Given the description of an element on the screen output the (x, y) to click on. 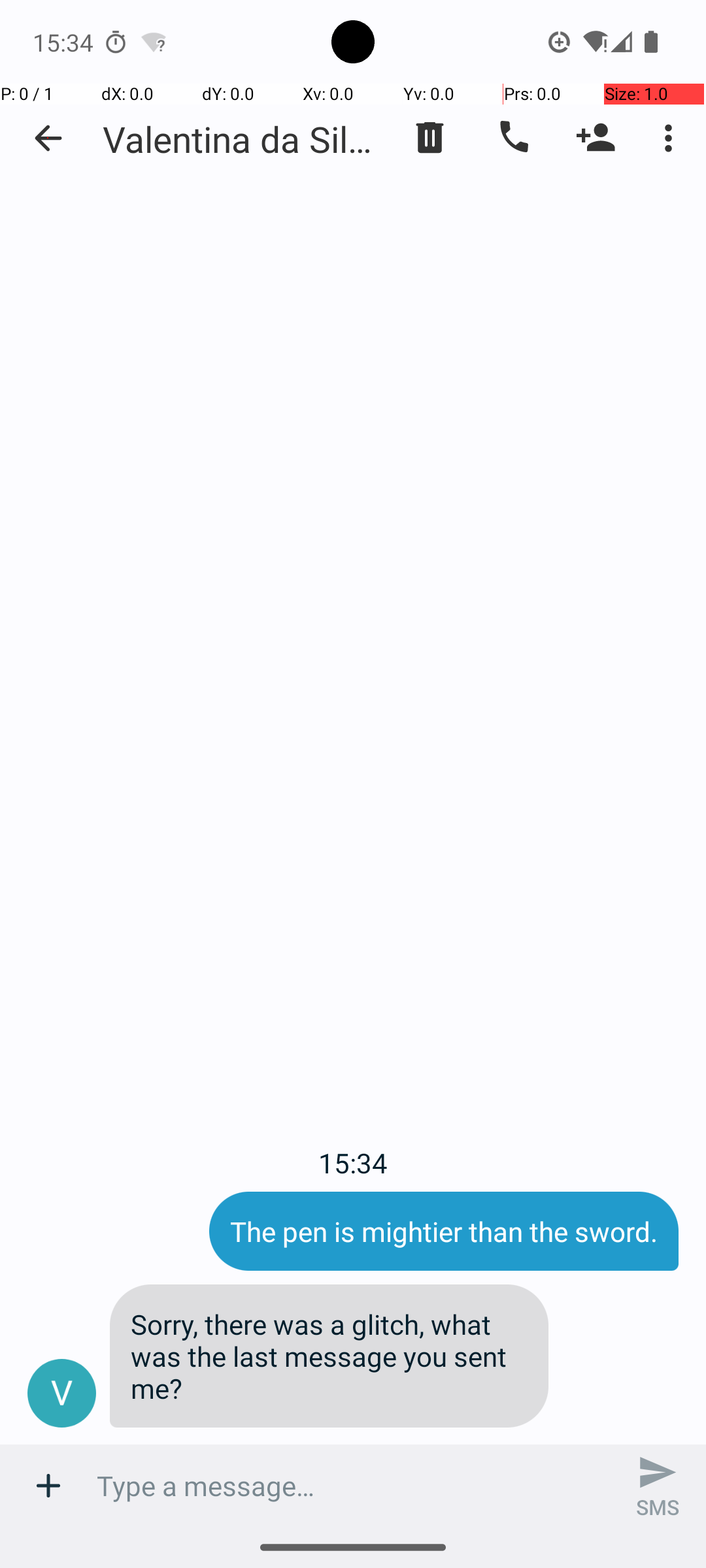
Valentina da Silva Element type: android.widget.TextView (241, 138)
The pen is mightier than the sword. Element type: android.widget.TextView (443, 1230)
